Given the description of an element on the screen output the (x, y) to click on. 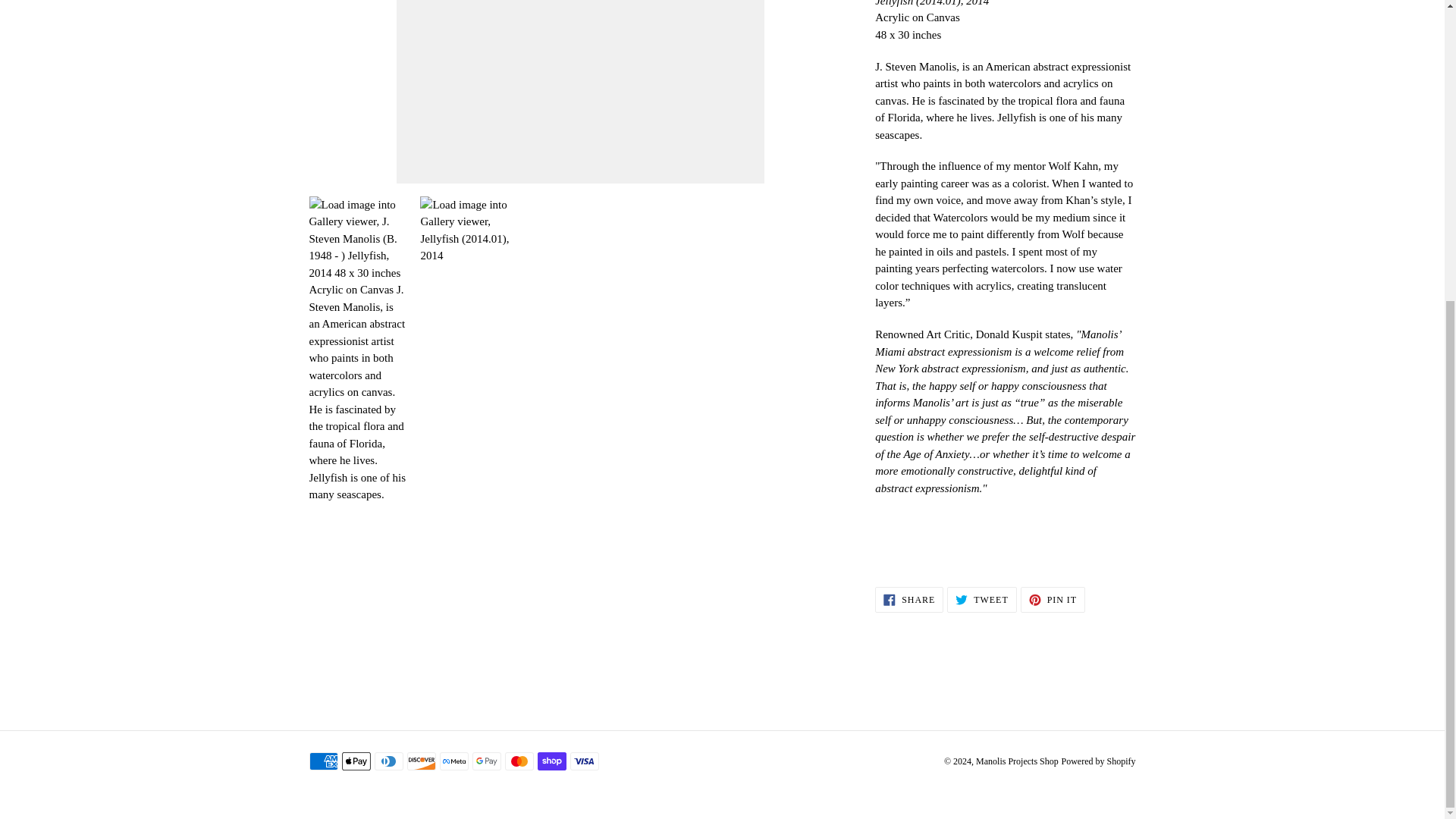
Manolis Projects Shop (981, 599)
Powered by Shopify (909, 599)
